Given the description of an element on the screen output the (x, y) to click on. 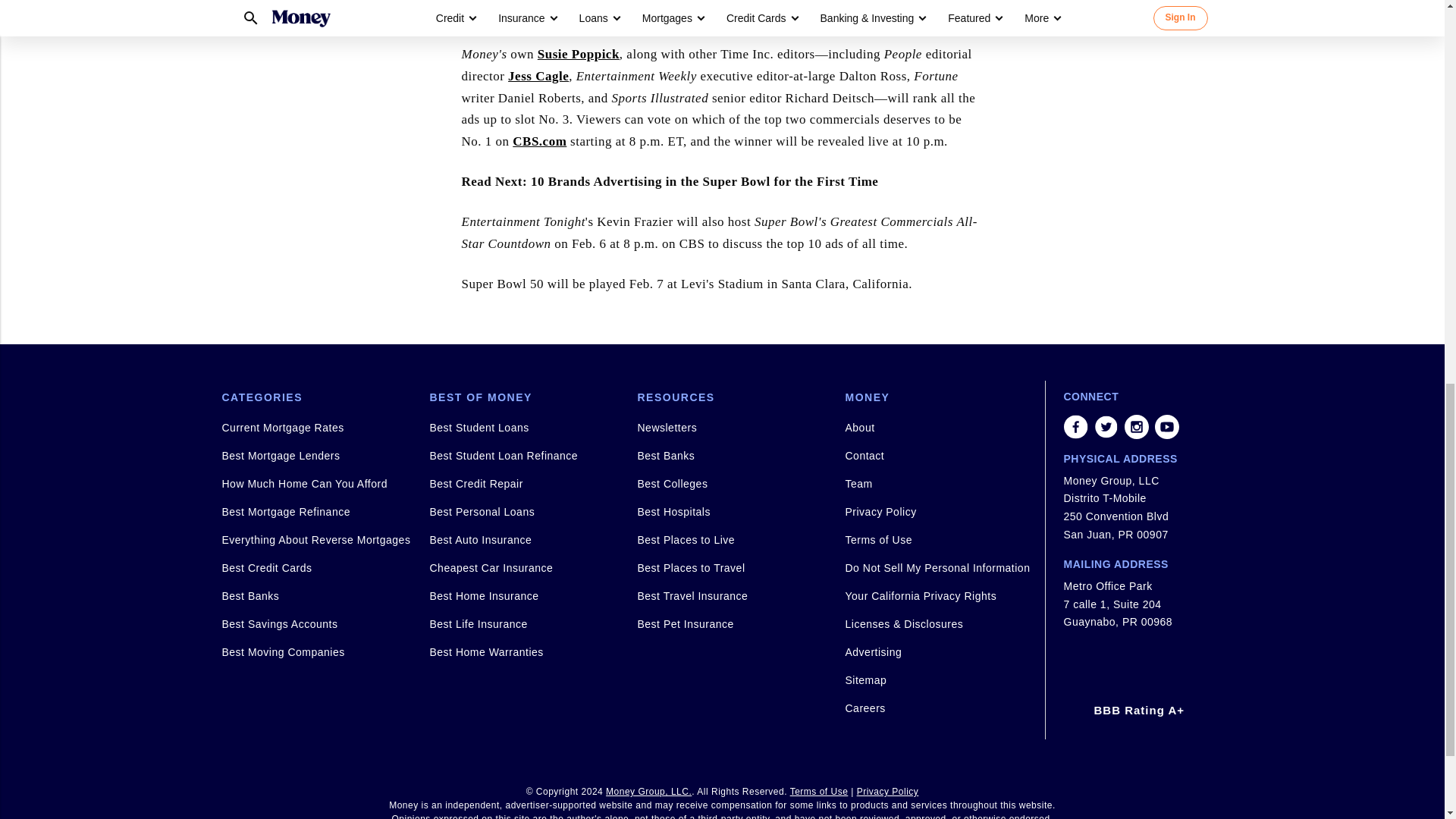
instagram share (1136, 426)
facebook share (1074, 426)
twitter share (1105, 426)
youtube share (1165, 426)
